Given the description of an element on the screen output the (x, y) to click on. 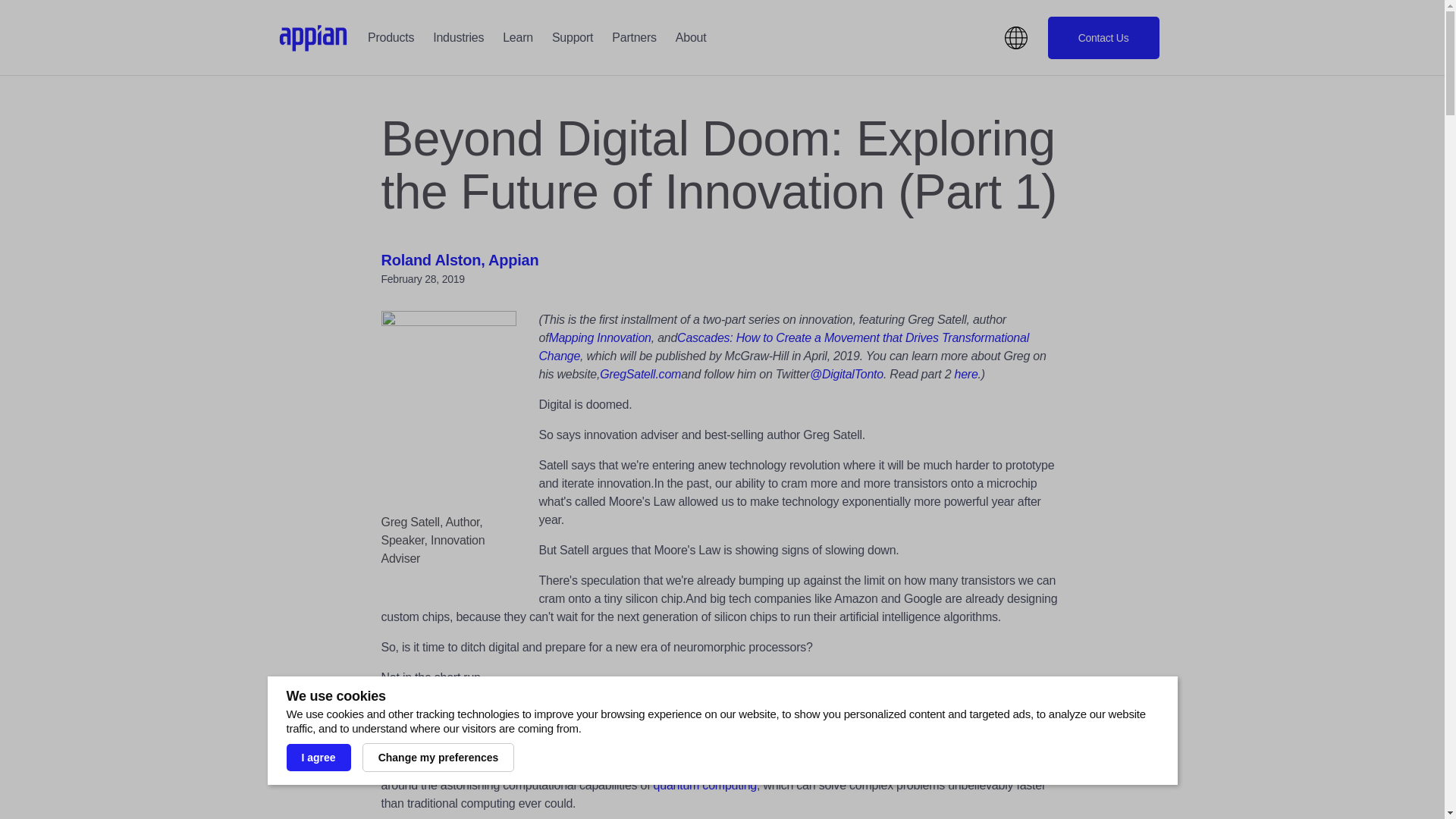
I agree (318, 757)
Products (391, 37)
Change my preferences (438, 757)
Appian (313, 37)
